Given the description of an element on the screen output the (x, y) to click on. 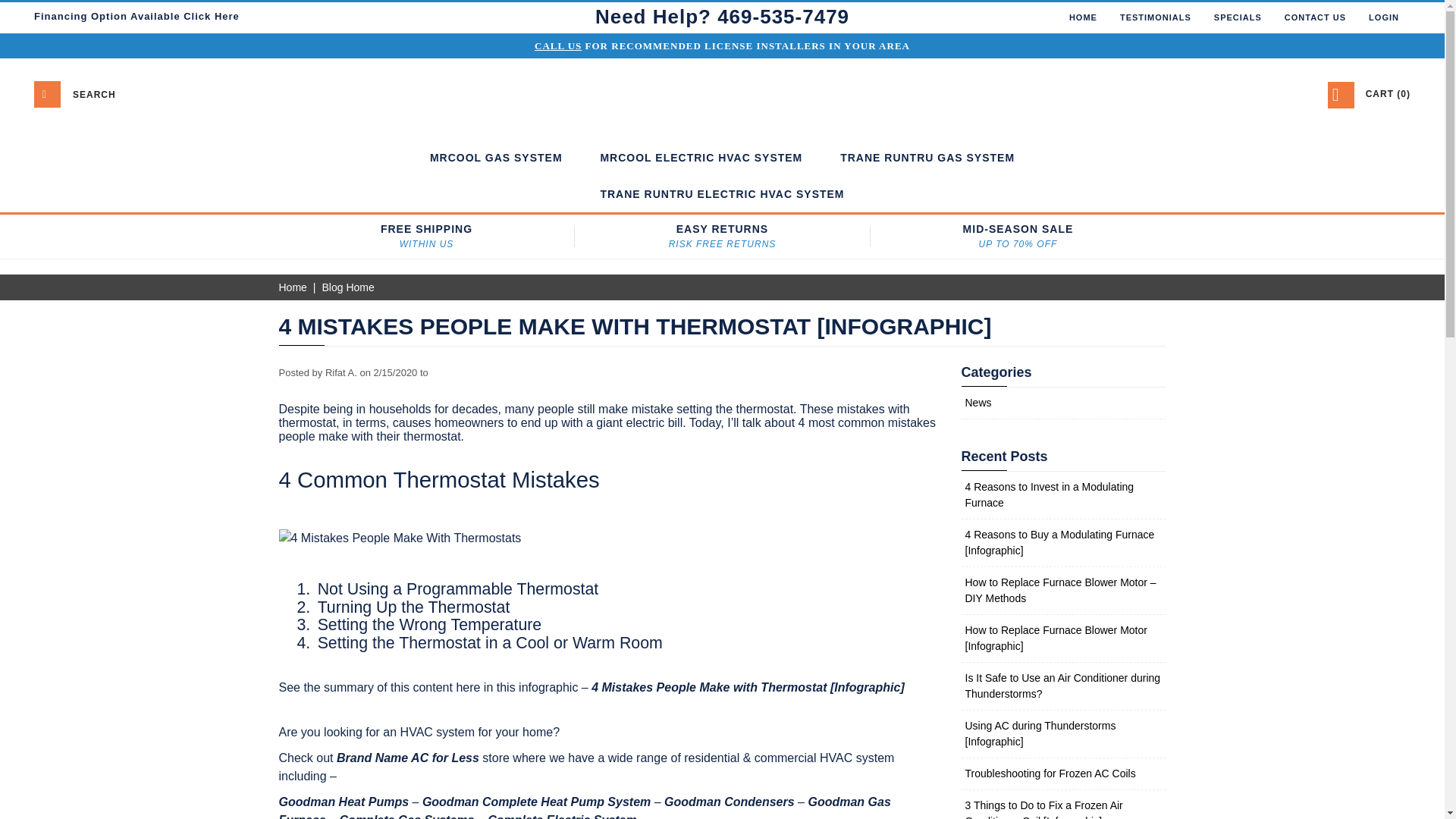
News (977, 402)
SPECIALS (1238, 17)
TRANE RUNTRU GAS SYSTEM (927, 157)
Goodman Condensers (728, 801)
MRCOOL GAS SYSTEM (495, 157)
LOGIN (1383, 17)
Brand Name AC for Less (407, 757)
MRCOOL ELECTRIC HVAC SYSTEM (700, 157)
Goodman Complete Heat Pump System (536, 801)
CONTACT US (1314, 17)
TESTIMONIALS (1155, 17)
TRANE RUNTRU ELECTRIC HVAC SYSTEM (721, 194)
Goodman Gas Furnace (585, 807)
Goodman Heat Pumps (344, 801)
Financing Option Available Click Here (136, 17)
